Given the description of an element on the screen output the (x, y) to click on. 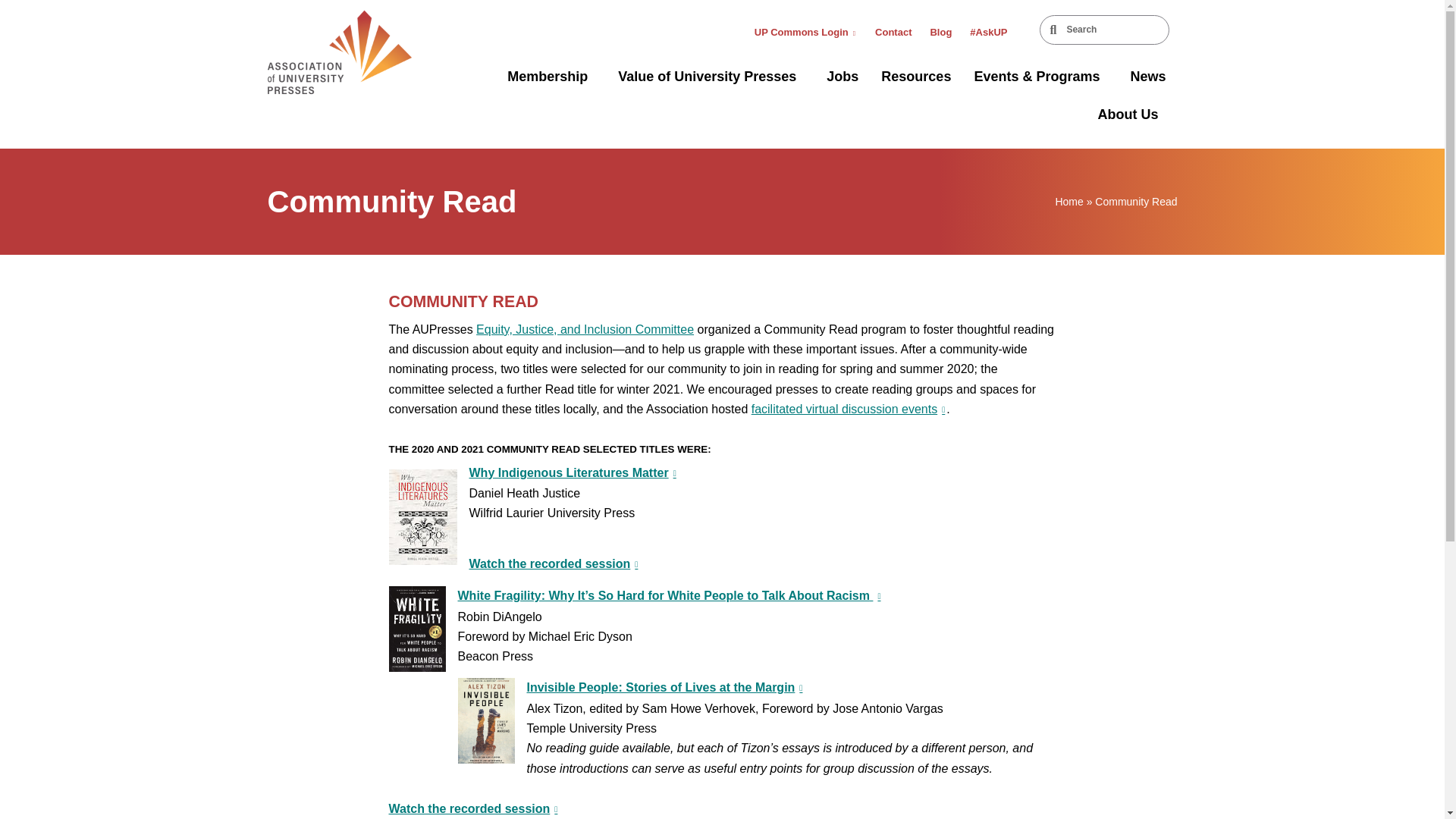
Value of University Presses (711, 76)
Jobs (842, 76)
Resources (915, 76)
Contact (893, 32)
Membership (551, 76)
About Us (1131, 114)
Blog (940, 32)
UP Commons Login (805, 32)
News (1147, 76)
